Given the description of an element on the screen output the (x, y) to click on. 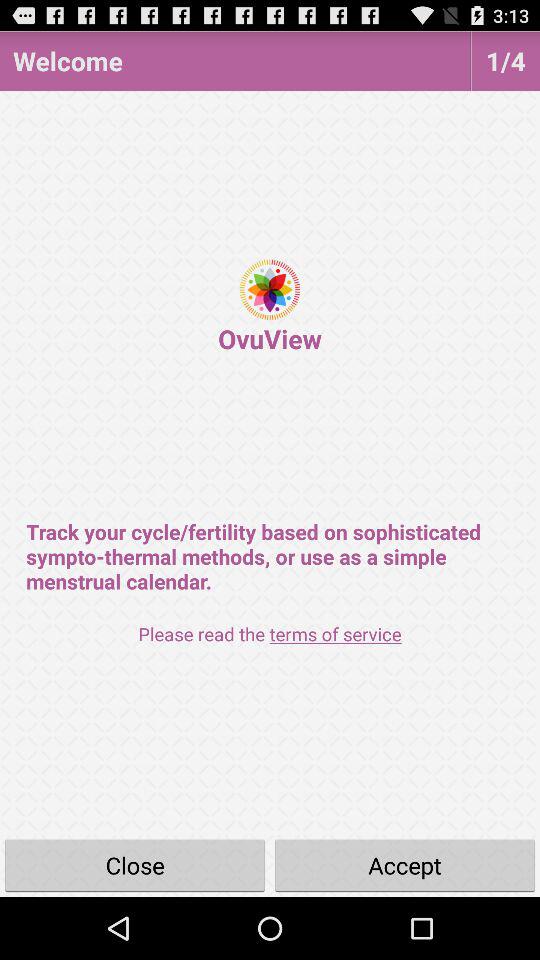
select the icon at the bottom right corner (405, 864)
